Given the description of an element on the screen output the (x, y) to click on. 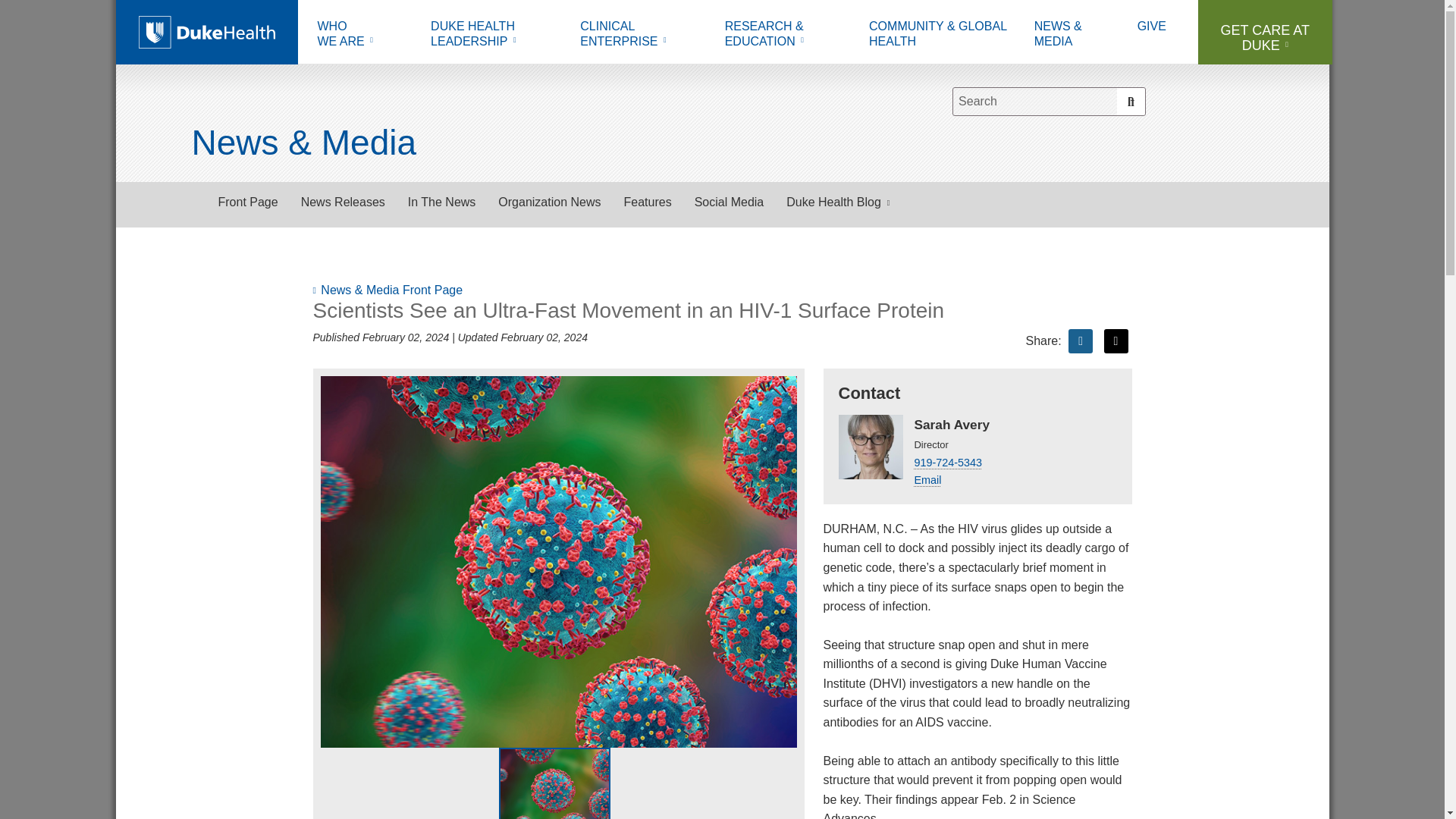
CLINICAL ENTERPRISE (362, 35)
DUKE HEALTH LEADERSHIP (641, 35)
